Given the description of an element on the screen output the (x, y) to click on. 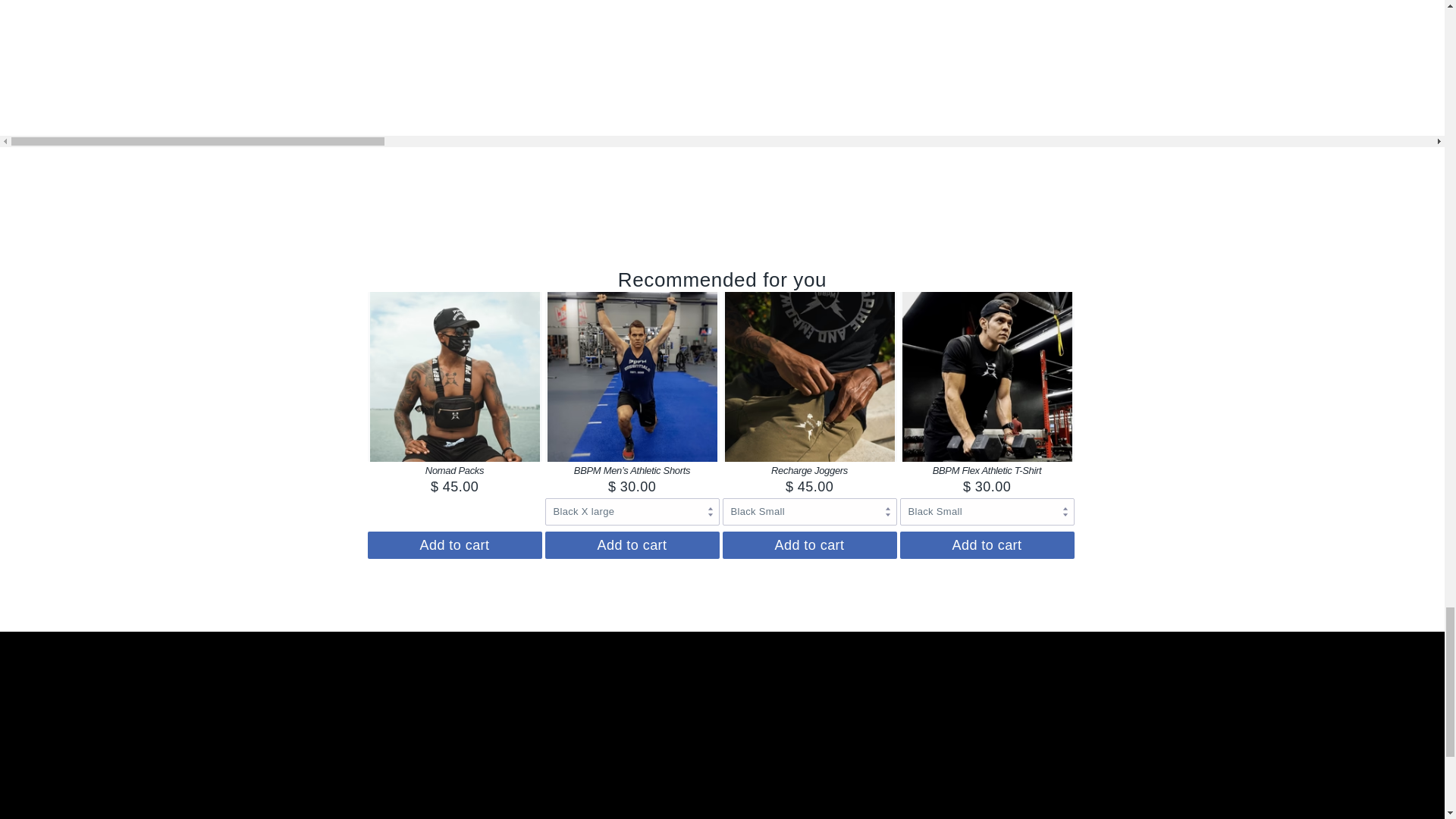
Nomad Packs (453, 470)
BBPM Flex Athletic T-Shirt (986, 470)
Recharge Joggers (809, 470)
